Given the description of an element on the screen output the (x, y) to click on. 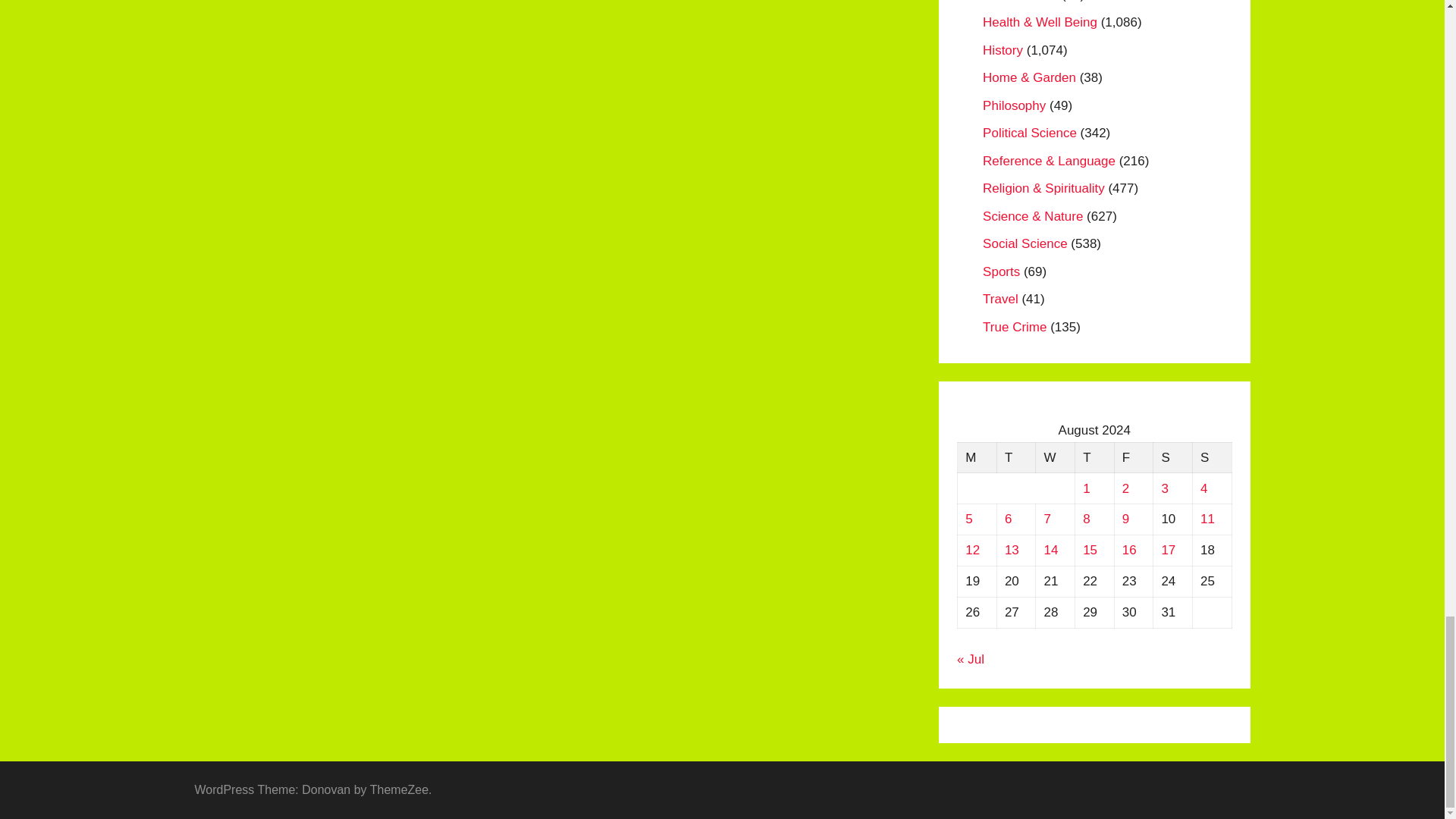
Wednesday (1055, 457)
Thursday (1093, 457)
Sunday (1211, 457)
Friday (1133, 457)
Monday (977, 457)
Tuesday (1015, 457)
Saturday (1172, 457)
